Given the description of an element on the screen output the (x, y) to click on. 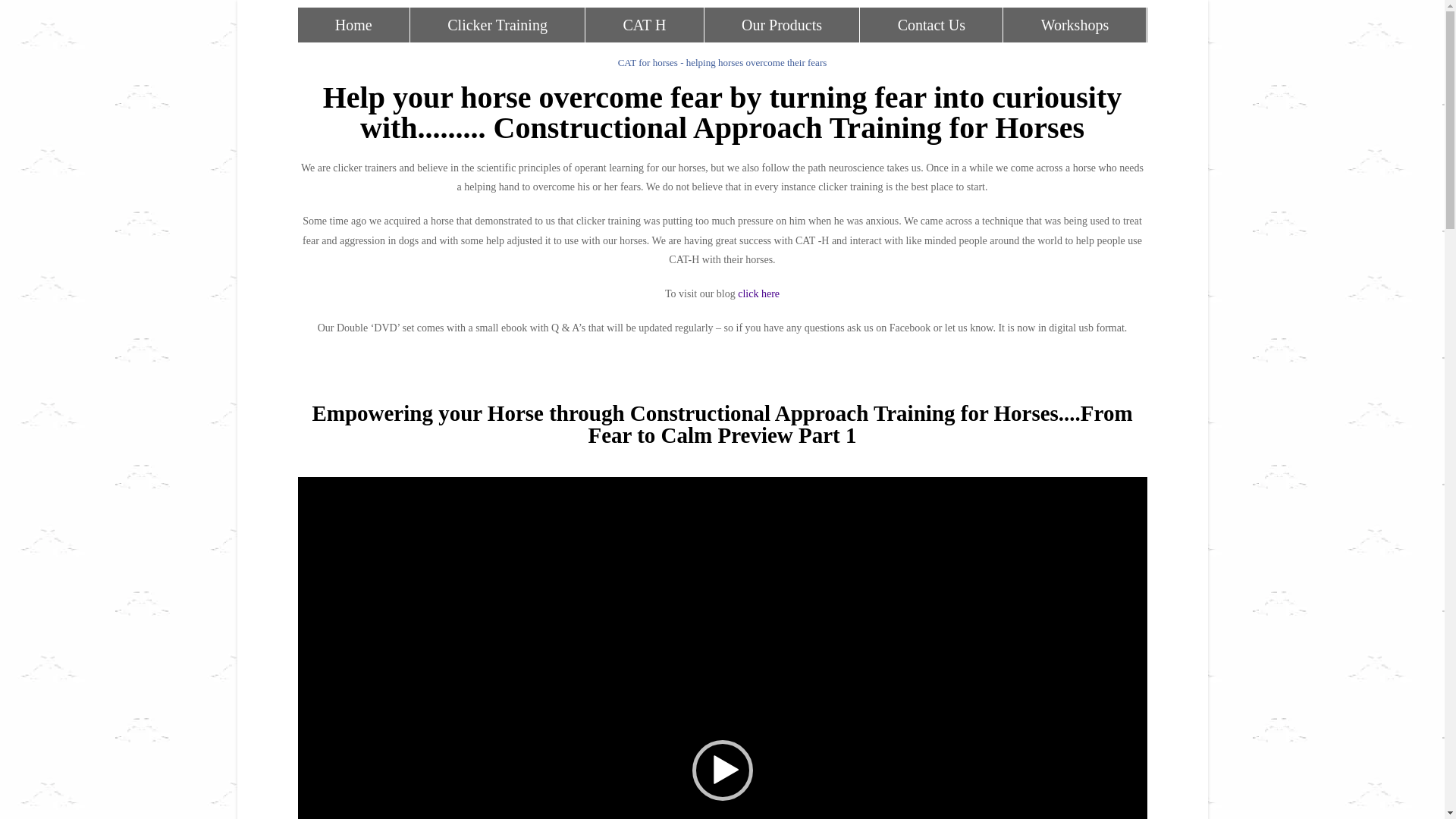
CAT for horses - helping horses overcome their fears Element type: text (722, 62)
Our Products Element type: text (782, 24)
Workshops Element type: text (1074, 24)
Clicker Training Element type: text (497, 24)
Contact Us Element type: text (931, 24)
Home Element type: text (353, 24)
CAT H Element type: text (644, 24)
click here Element type: text (758, 293)
